Given the description of an element on the screen output the (x, y) to click on. 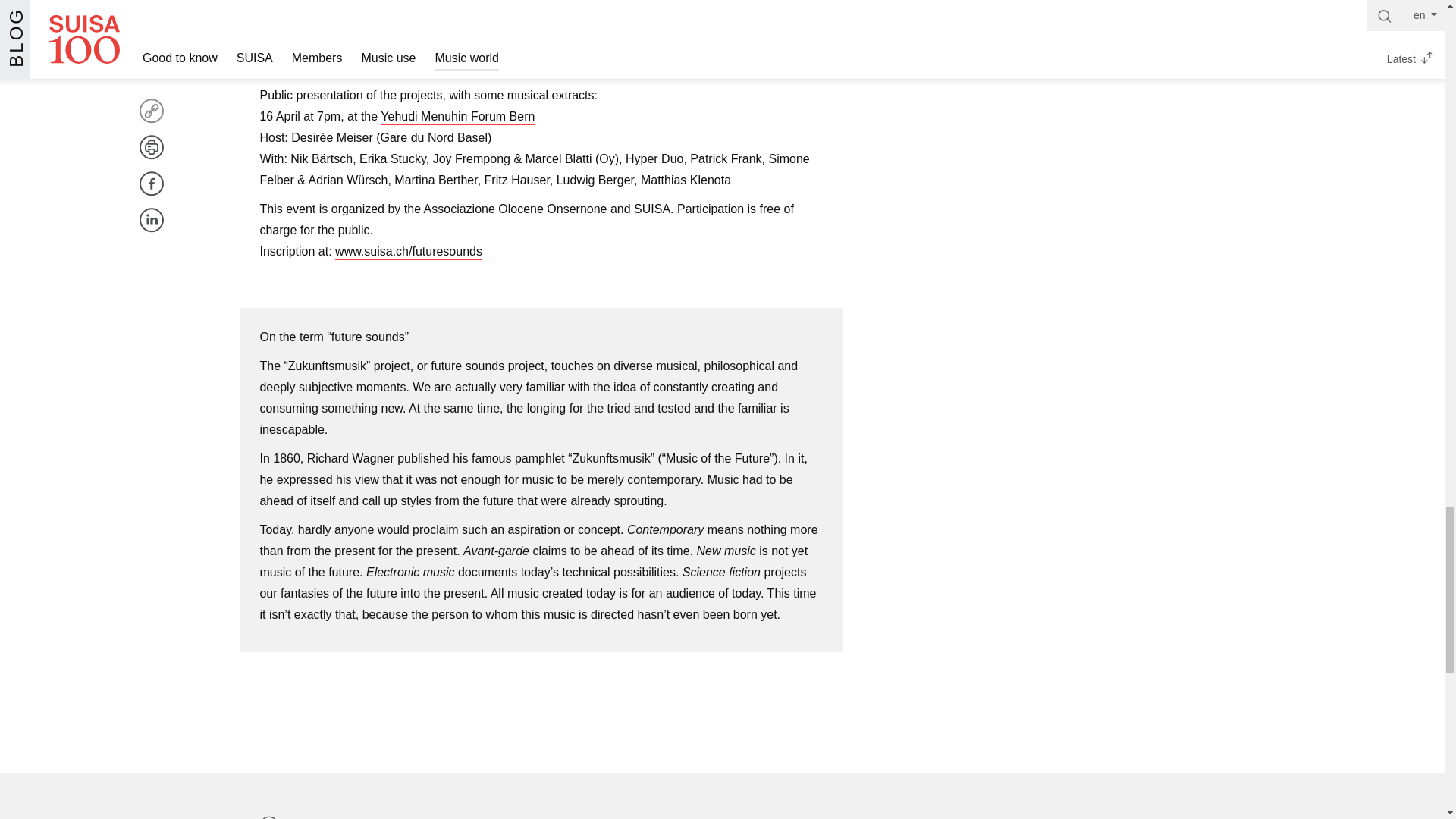
Comments (313, 815)
Yehudi Menuhin Forum Bern (457, 115)
